Given the description of an element on the screen output the (x, y) to click on. 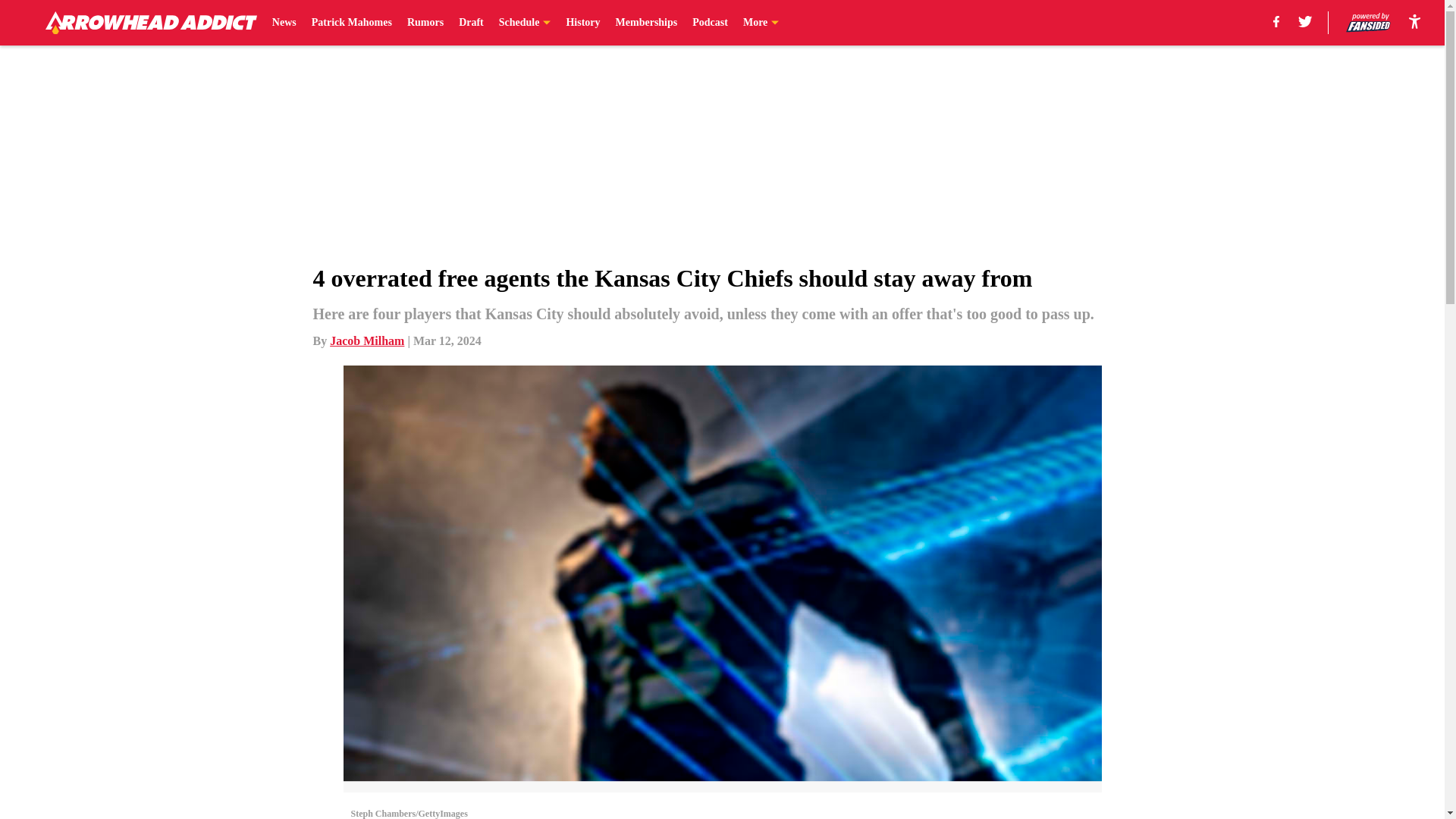
Draft (470, 22)
Rumors (425, 22)
Podcast (710, 22)
Patrick Mahomes (351, 22)
Memberships (646, 22)
Jacob Milham (367, 340)
History (582, 22)
News (284, 22)
